Given the description of an element on the screen output the (x, y) to click on. 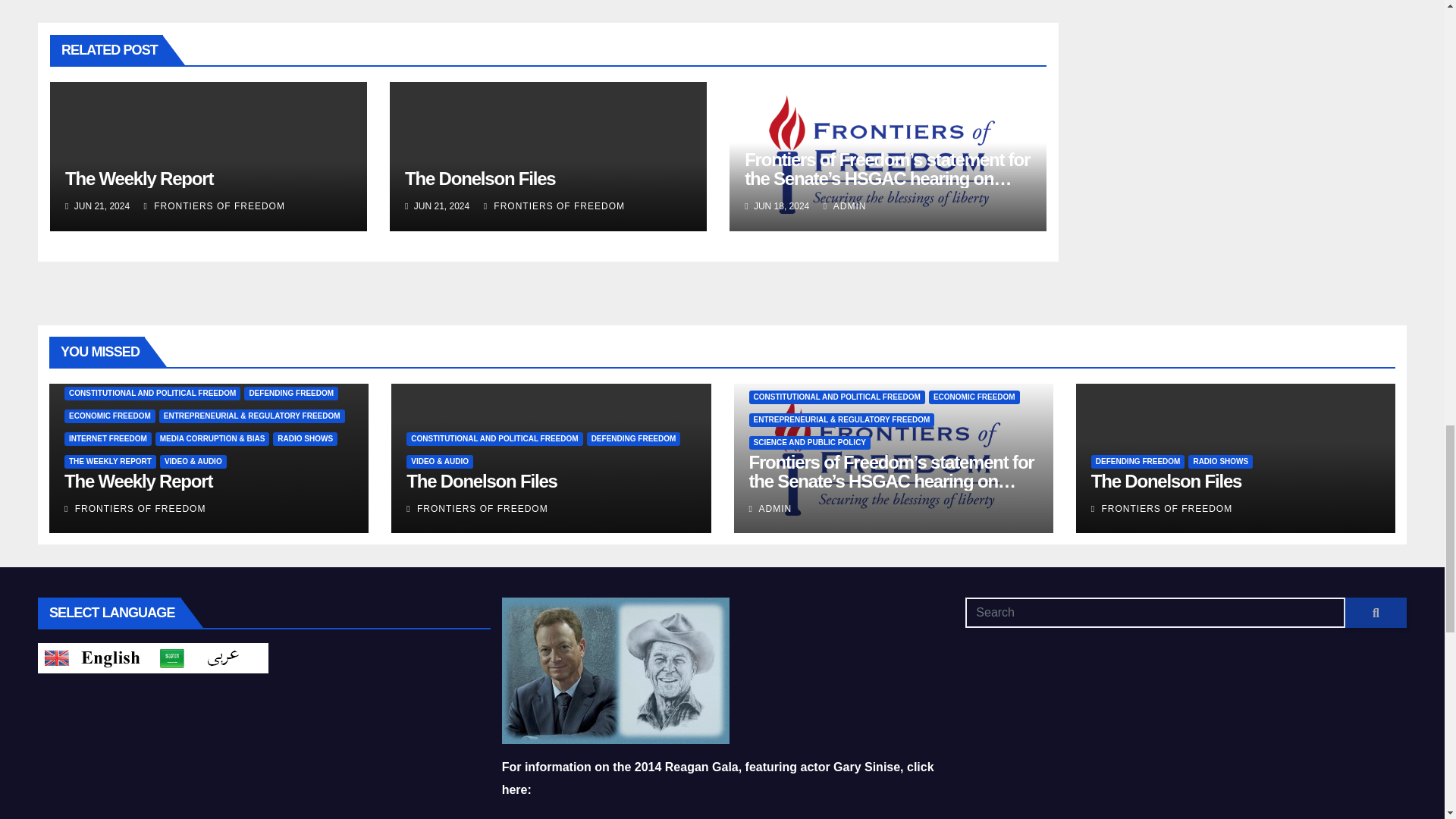
ADMIN (845, 205)
FRONTIERS OF FREEDOM (214, 205)
FRONTIERS OF FREEDOM (553, 205)
Permalink to: The Weekly Report (138, 178)
The Weekly Report (138, 178)
The Donelson Files (479, 178)
